Given the description of an element on the screen output the (x, y) to click on. 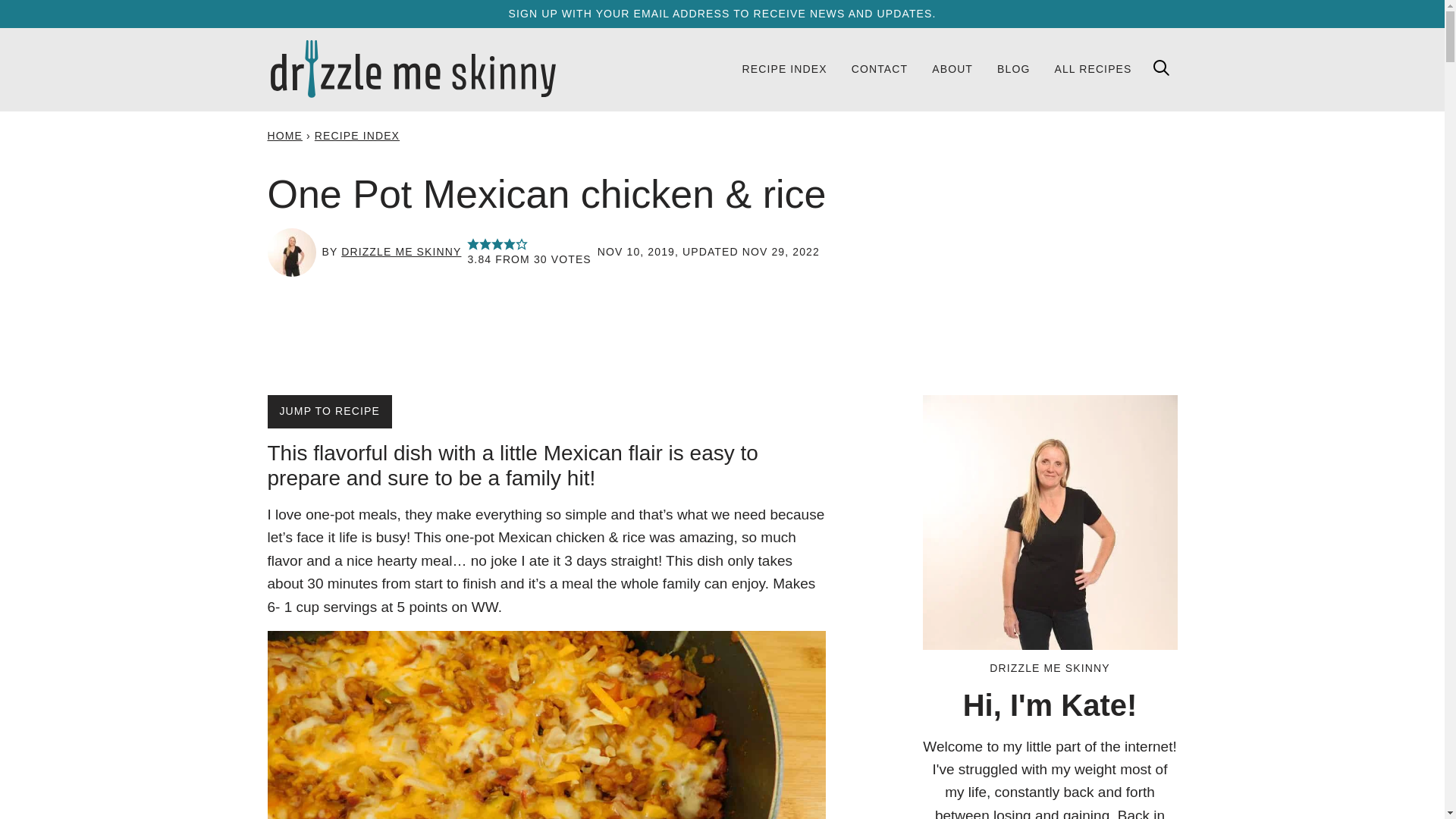
RECIPE INDEX (783, 68)
ALL RECIPES (1092, 68)
CONTACT (880, 68)
HOME (283, 135)
DRIZZLE ME SKINNY (400, 251)
ABOUT (952, 68)
RECIPE INDEX (356, 135)
SIGN UP WITH YOUR EMAIL ADDRESS TO RECEIVE NEWS AND UPDATES. (722, 13)
BLOG (1013, 68)
JUMP TO RECIPE (328, 411)
